Given the description of an element on the screen output the (x, y) to click on. 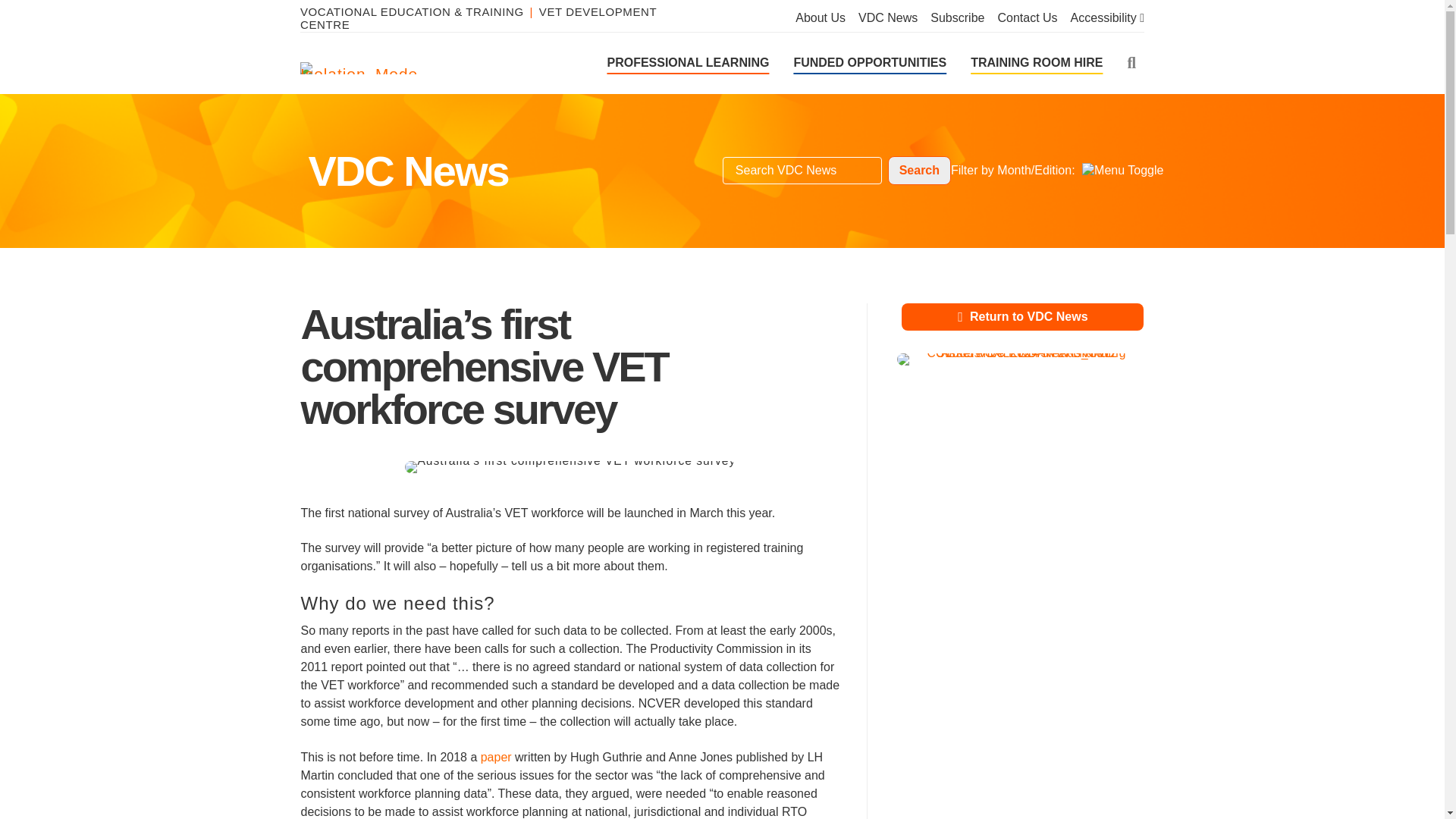
Subscribe (957, 17)
Layer 12 (1019, 490)
Contact Us (1026, 17)
About Us (820, 17)
Accessibility (1107, 17)
VDC News (887, 17)
